Given the description of an element on the screen output the (x, y) to click on. 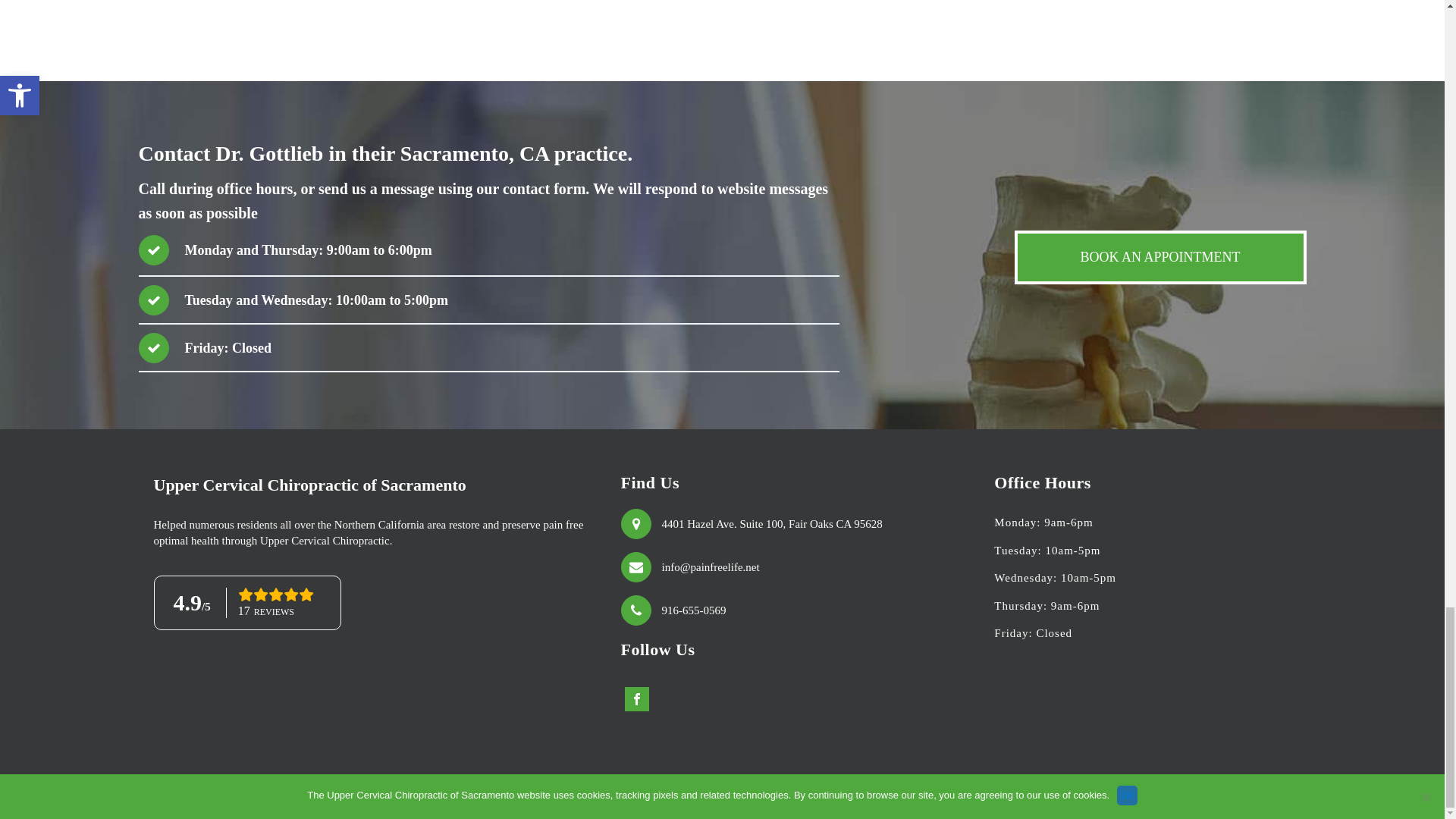
916-655-0569 (693, 610)
BOOK AN APPOINTMENT (1160, 257)
4401 Hazel Ave. Suite 100, Fair Oaks CA 95628 (771, 524)
